Given the description of an element on the screen output the (x, y) to click on. 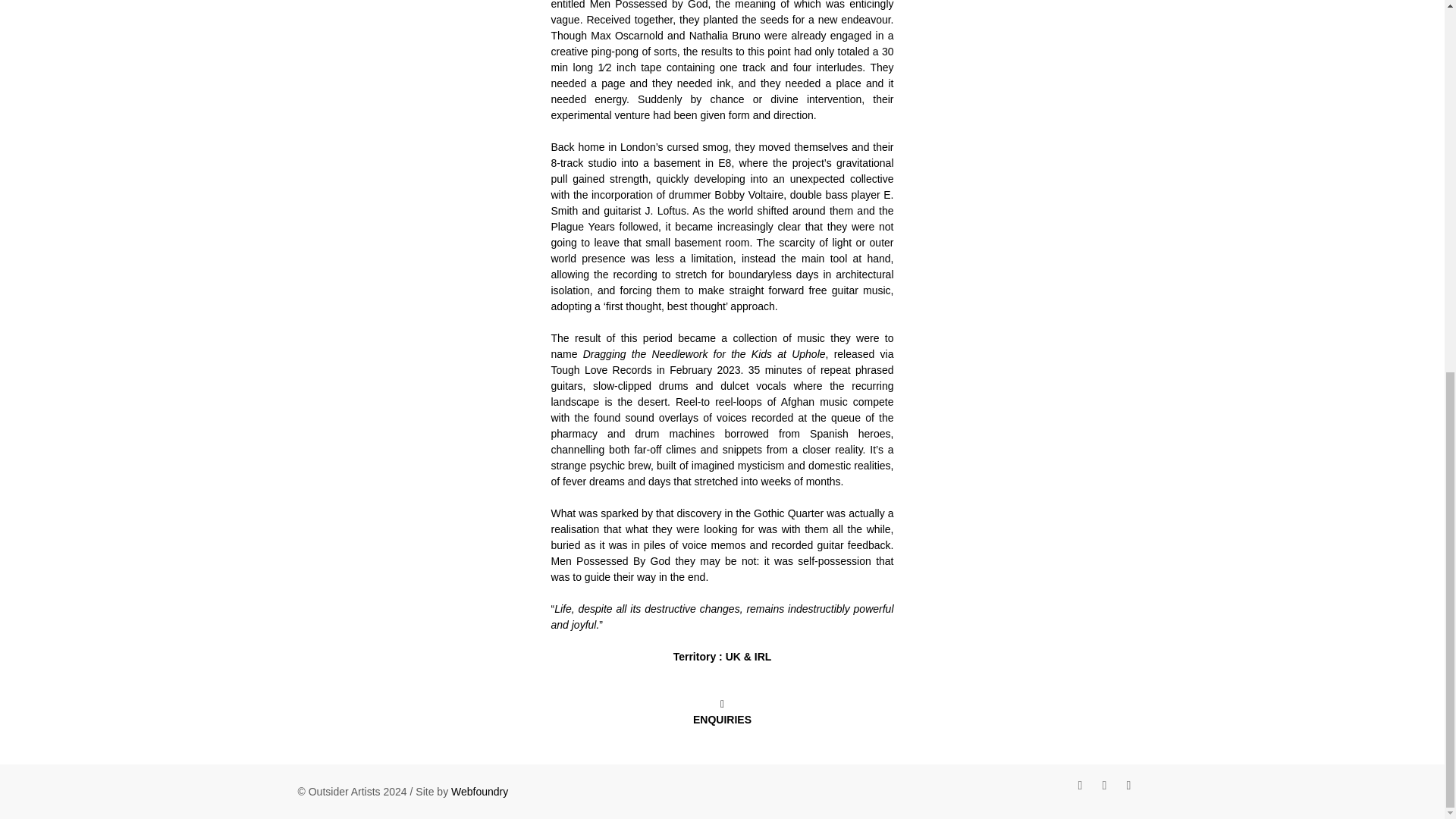
Webfoundry (479, 791)
ENQUIRIES (722, 711)
